Given the description of an element on the screen output the (x, y) to click on. 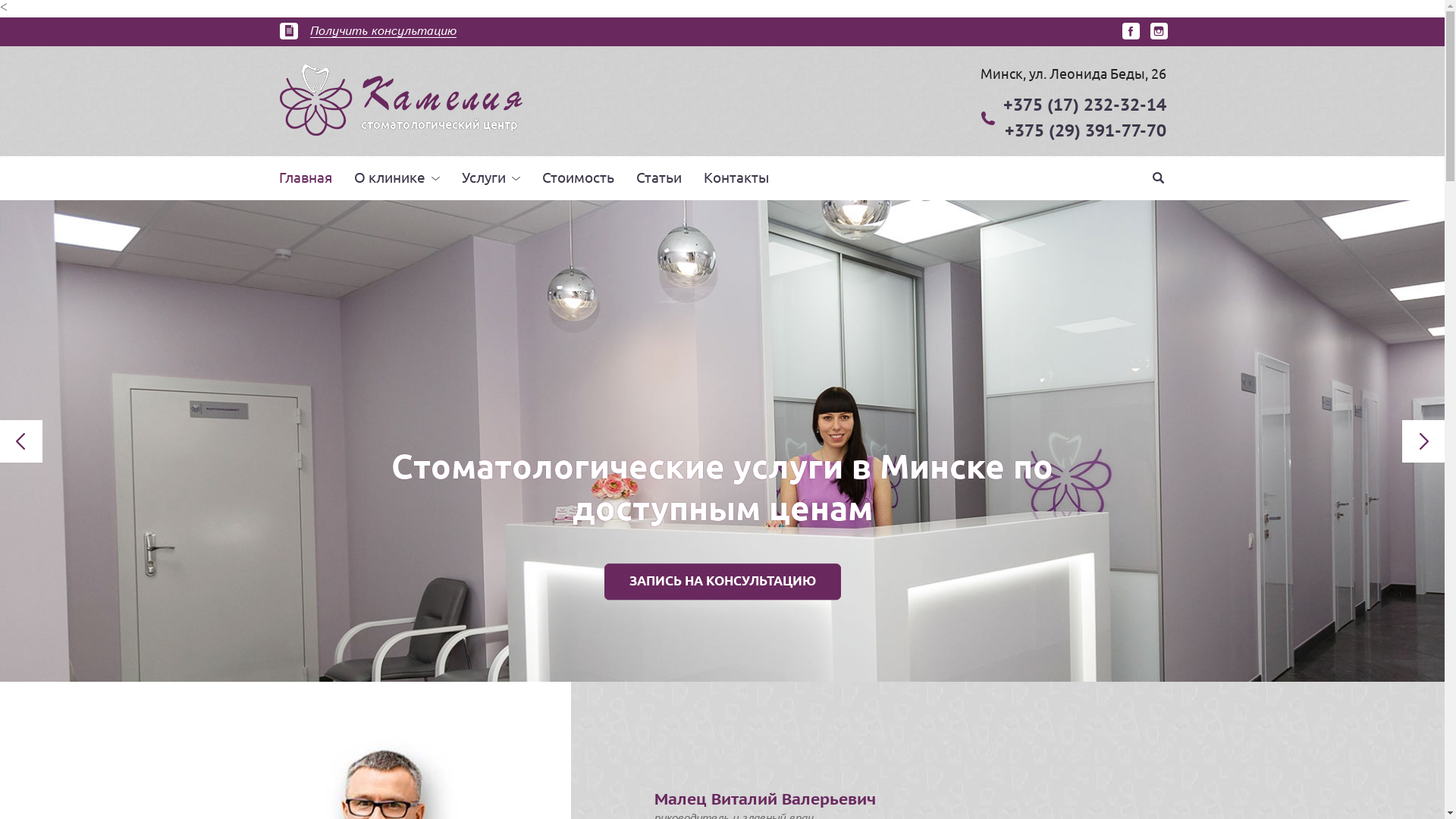
+375 (29) 391-77-70 Element type: text (1084, 130)
+375 (17) 232-32-14 Element type: text (1083, 104)
